Given the description of an element on the screen output the (x, y) to click on. 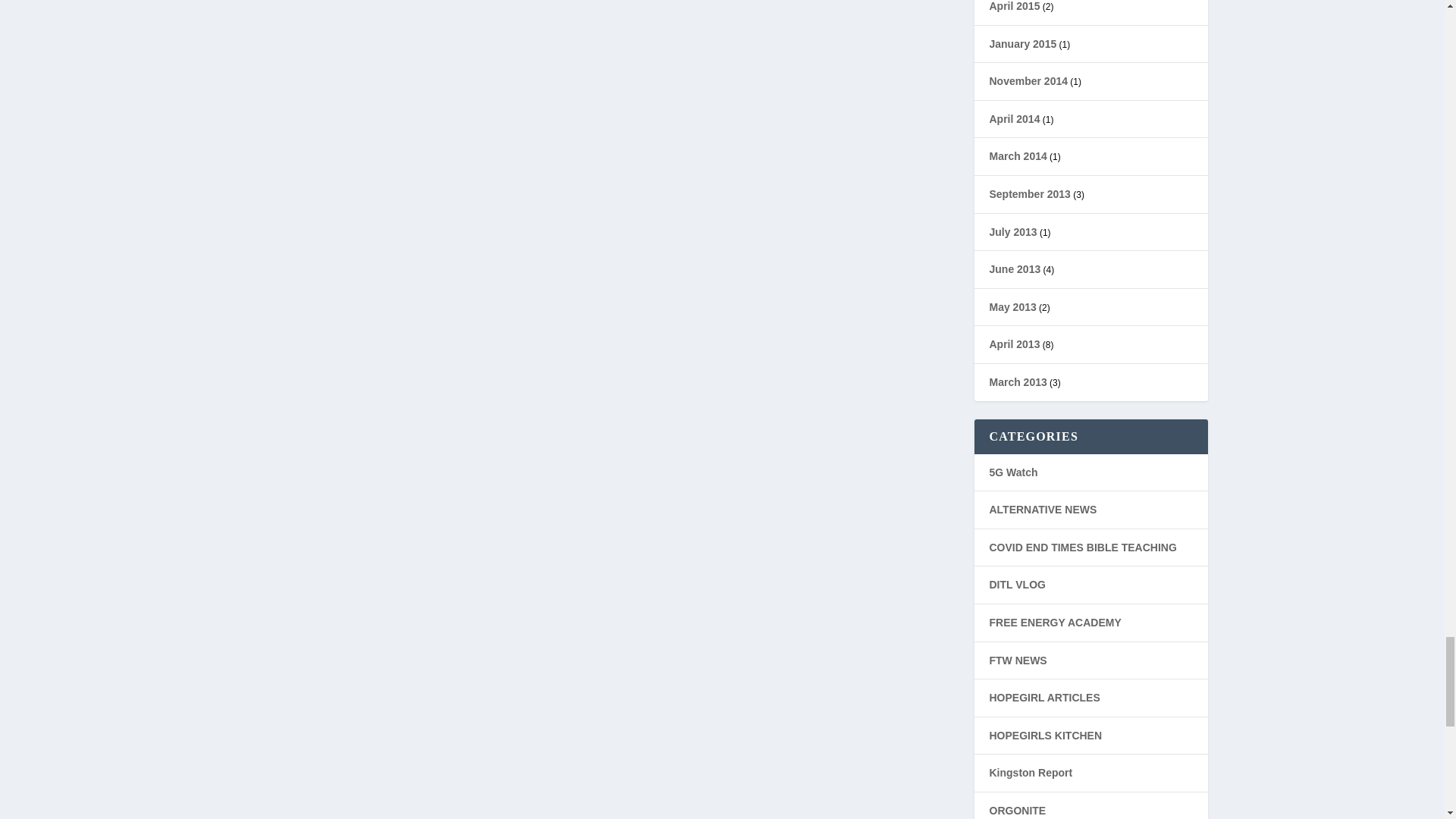
Latest updates from the Fix the World Organization (1017, 660)
